Given the description of an element on the screen output the (x, y) to click on. 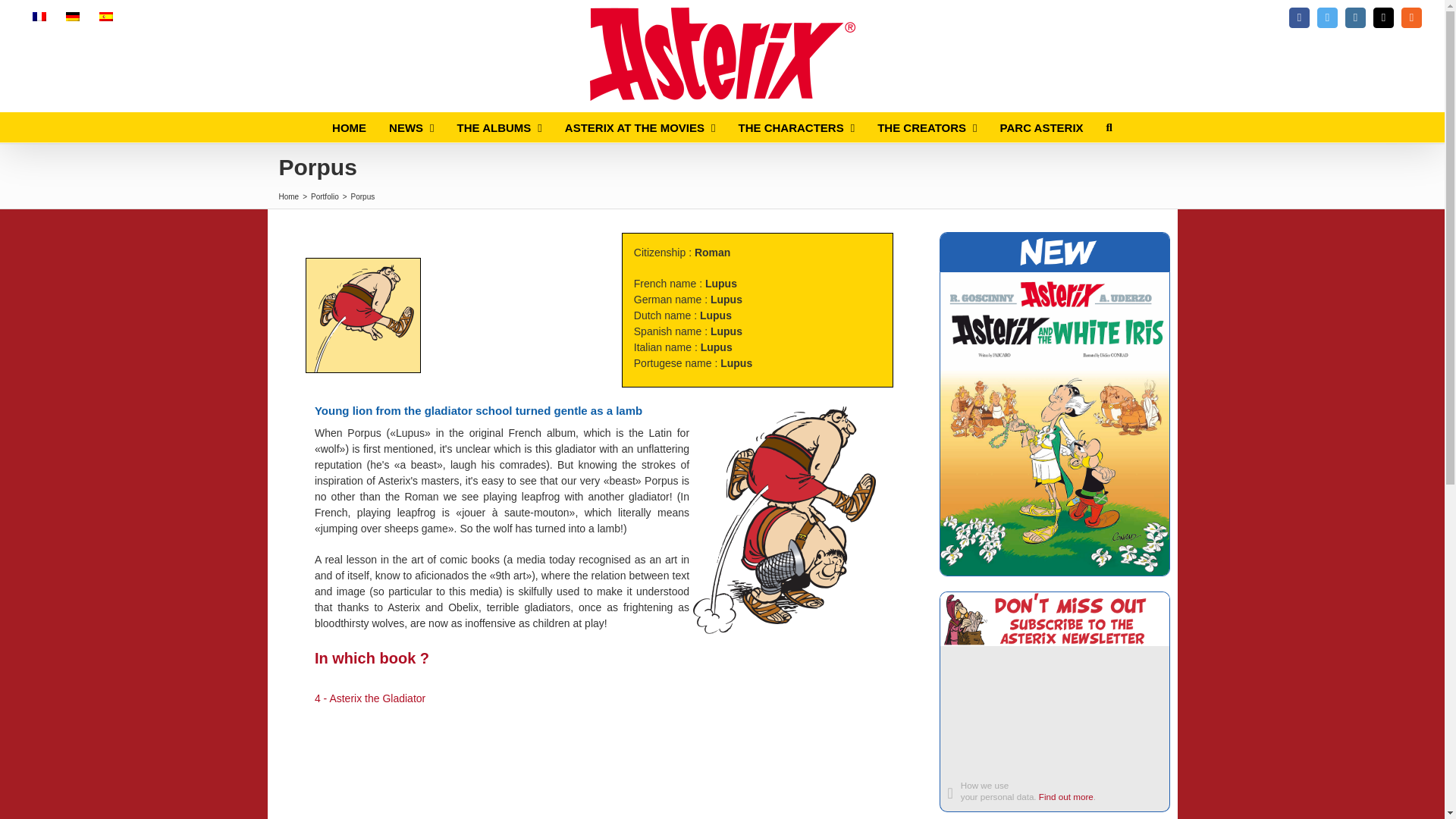
THE ALBUMS (499, 127)
Twitter (1327, 17)
HOME (348, 127)
NEWS (410, 127)
Rss (1411, 17)
THE CHARACTERS (796, 127)
Instagram (1355, 17)
Facebook (1298, 17)
Rss (1411, 17)
Email (1383, 17)
